Given the description of an element on the screen output the (x, y) to click on. 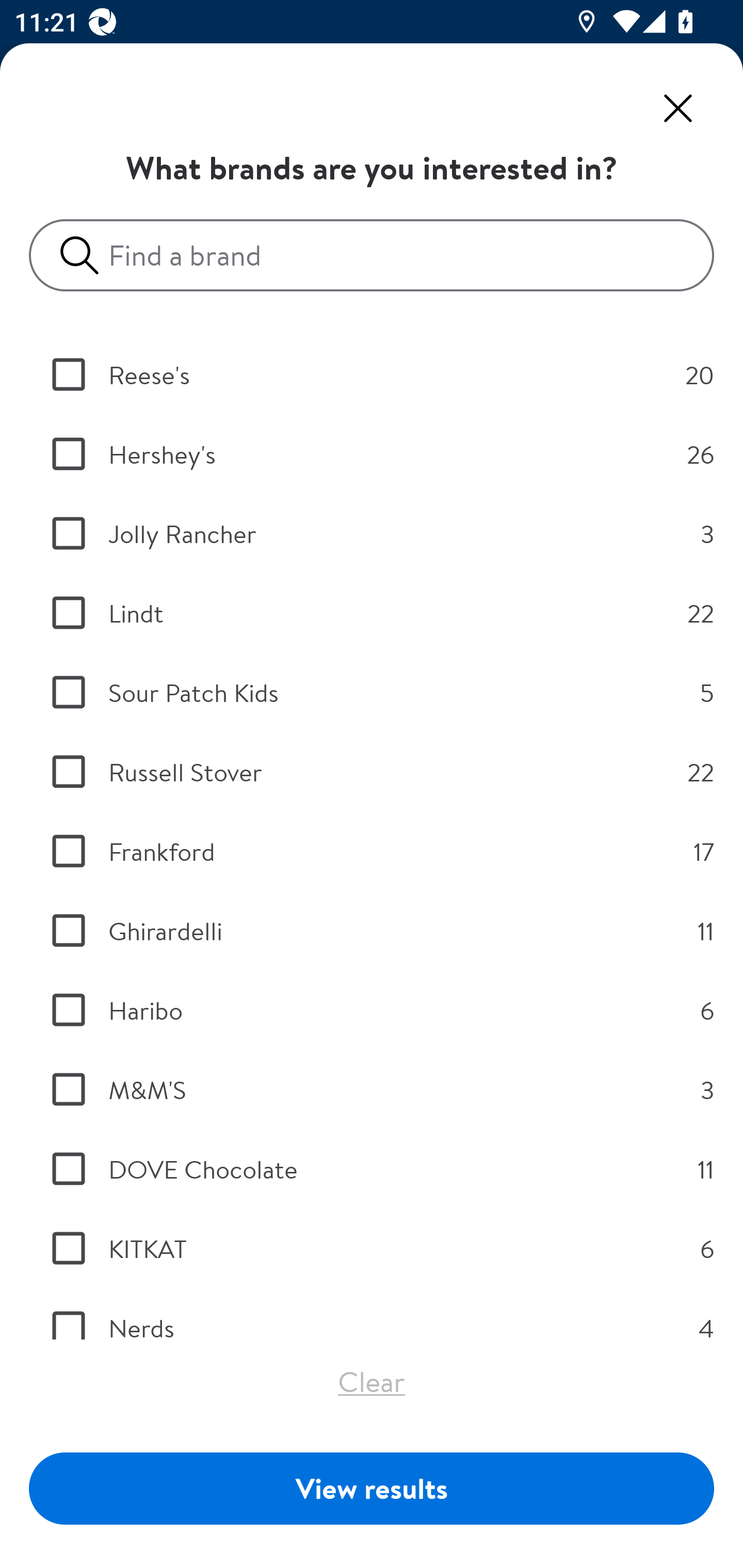
Close (677, 108)
Find a brand (378, 255)
View results (371, 1487)
